Given the description of an element on the screen output the (x, y) to click on. 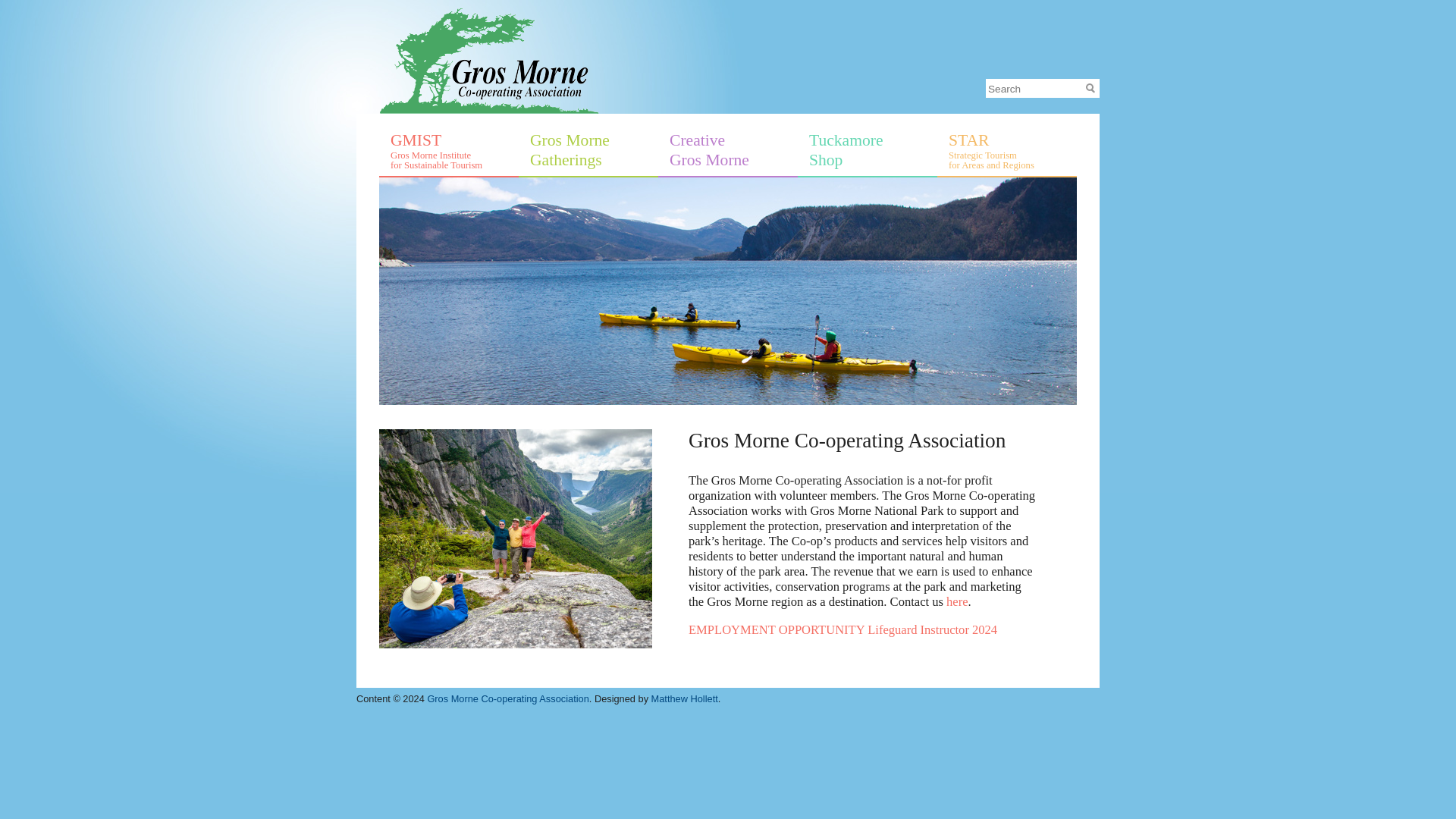
EMPLOYMENT OPPORTUNITY Lifeguard Instructor 2024 (842, 629)
Contact Us (957, 601)
here (957, 601)
